Given the description of an element on the screen output the (x, y) to click on. 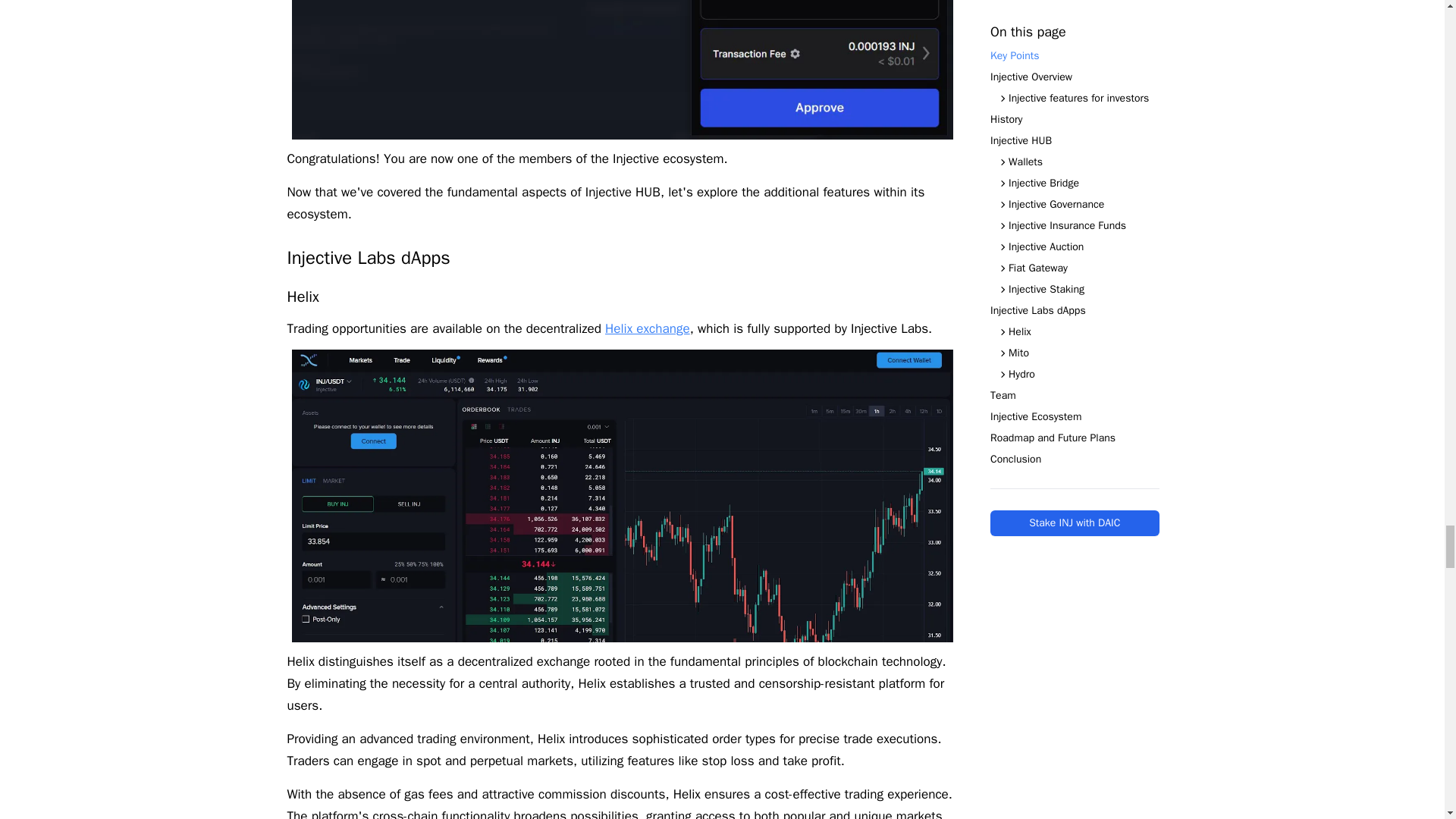
Helix exchange (647, 328)
